Given the description of an element on the screen output the (x, y) to click on. 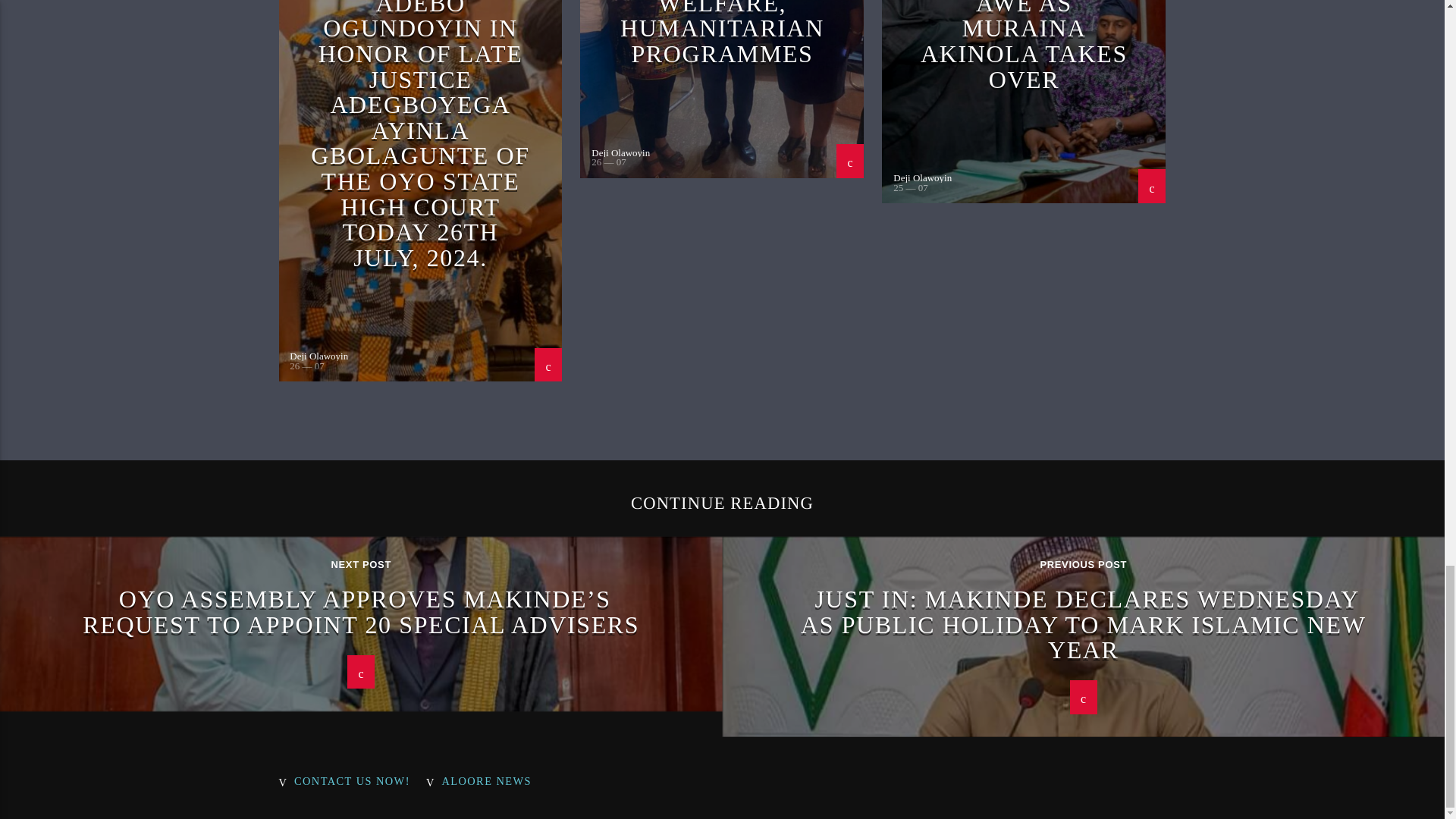
Deji Olawoyin (620, 152)
Posts by Deji Olawoyin (318, 355)
Deji Olawoyin (318, 355)
Posts by Deji Olawoyin (922, 177)
Deji Olawoyin (922, 177)
Posts by Deji Olawoyin (620, 152)
